Given the description of an element on the screen output the (x, y) to click on. 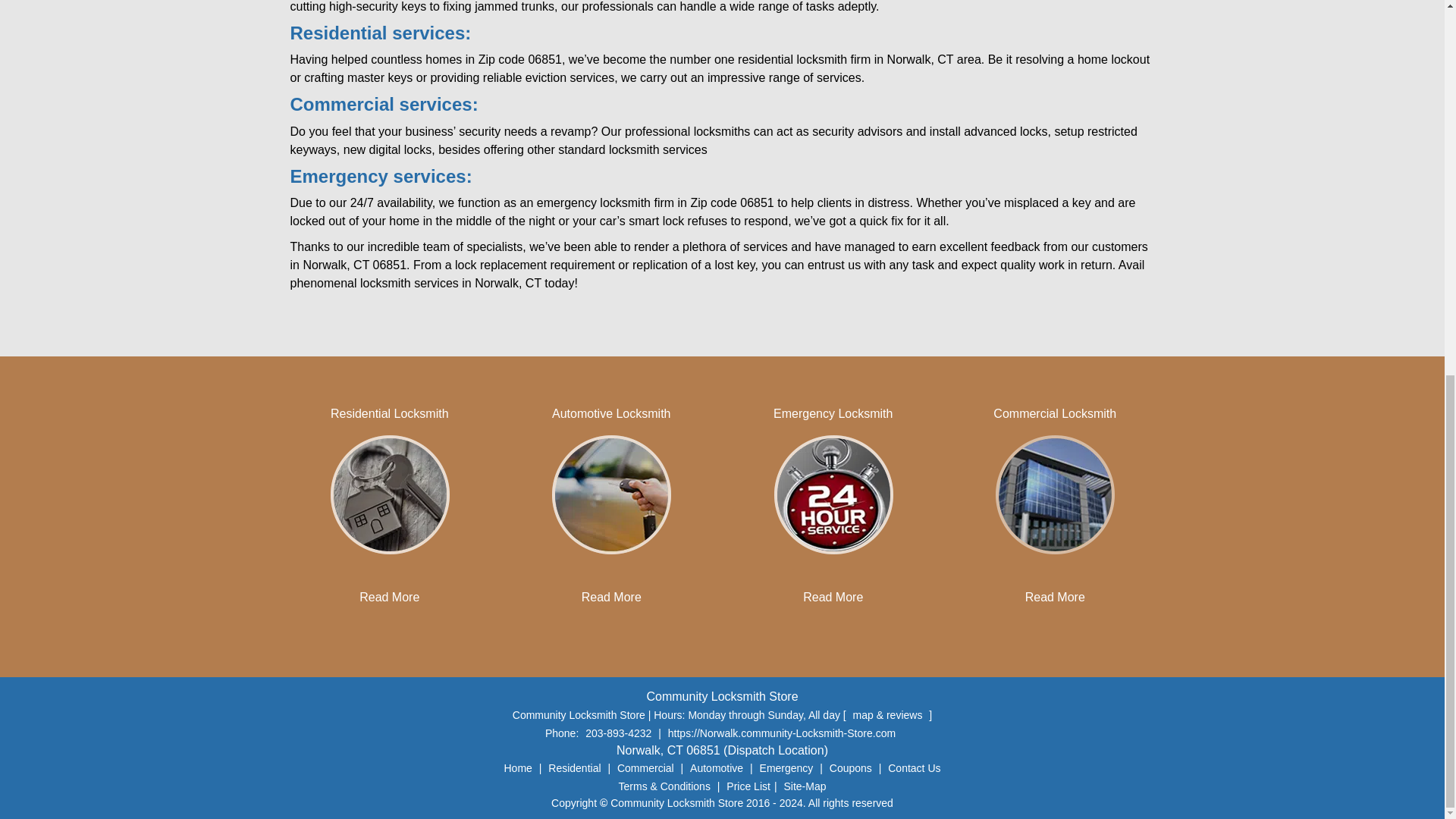
Automotive Locksmith (611, 413)
Coupons (850, 767)
Residential Locksmith (389, 413)
Community Locksmith Store Norwalk, CT 203-893-4232 (1054, 494)
Automotive (715, 767)
Community Locksmith Store Norwalk, CT 203-893-4232 (610, 494)
Read More (1054, 596)
Emergency (785, 767)
Commercial Locksmith (1054, 413)
Emergency Locksmith (832, 413)
